Given the description of an element on the screen output the (x, y) to click on. 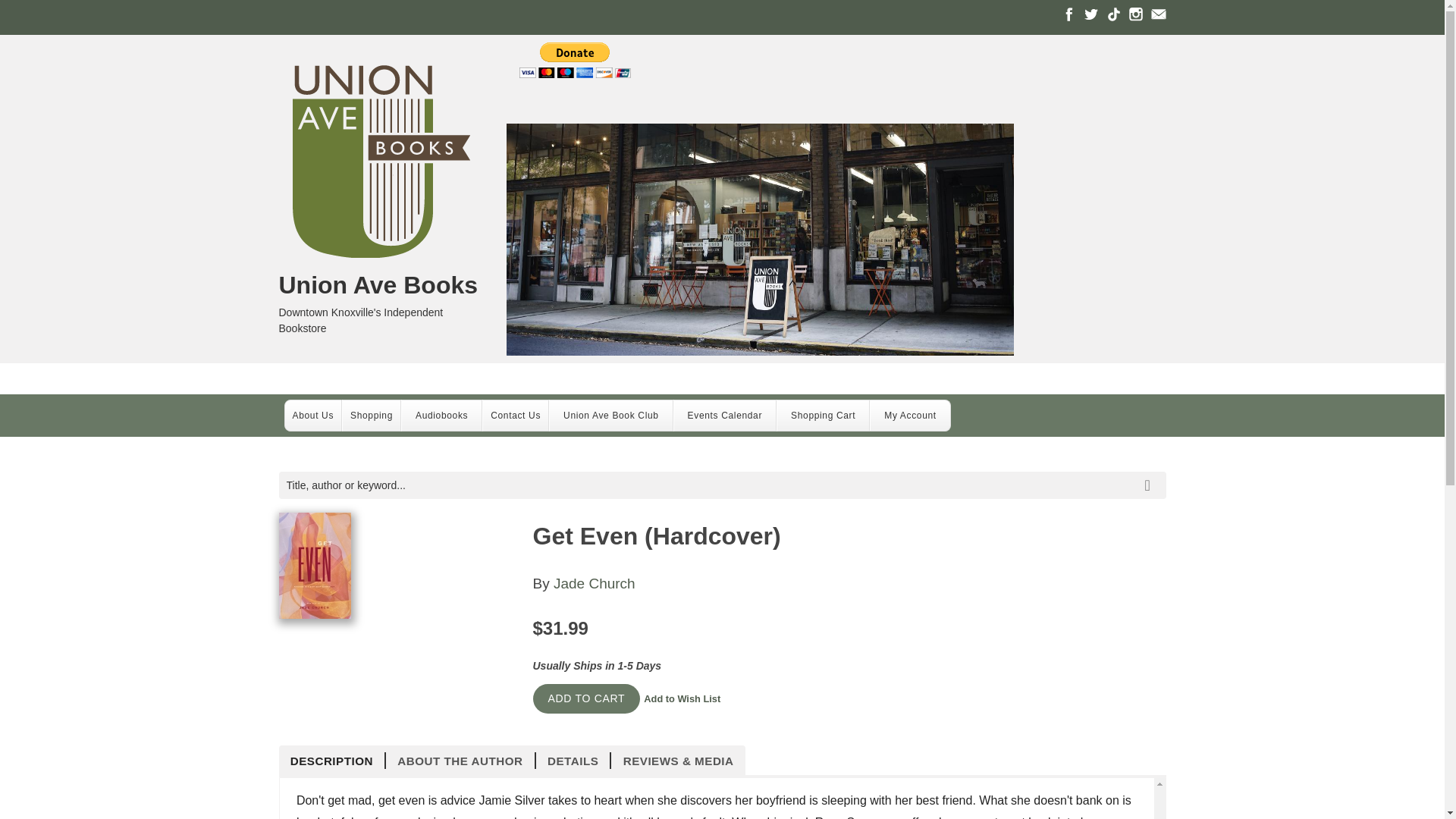
Home (381, 284)
Union Ave Book Club (611, 415)
ABOUT THE AUTHOR (460, 760)
DETAILS (573, 760)
Add to Cart (586, 698)
Title, author or keyword... (722, 485)
Home (381, 164)
Audiobooks (441, 415)
Jade Church (593, 583)
Contact Us (515, 415)
My Account (910, 415)
About Us (313, 415)
Add to Wish List (681, 698)
PayPal - The safer, easier way to pay online! (574, 59)
